Given the description of an element on the screen output the (x, y) to click on. 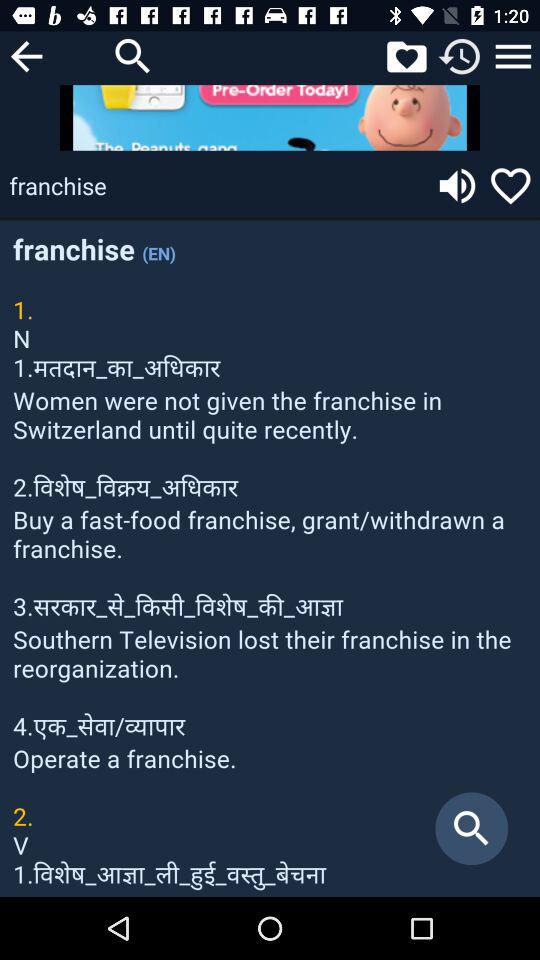
select the volume (457, 185)
